Given the description of an element on the screen output the (x, y) to click on. 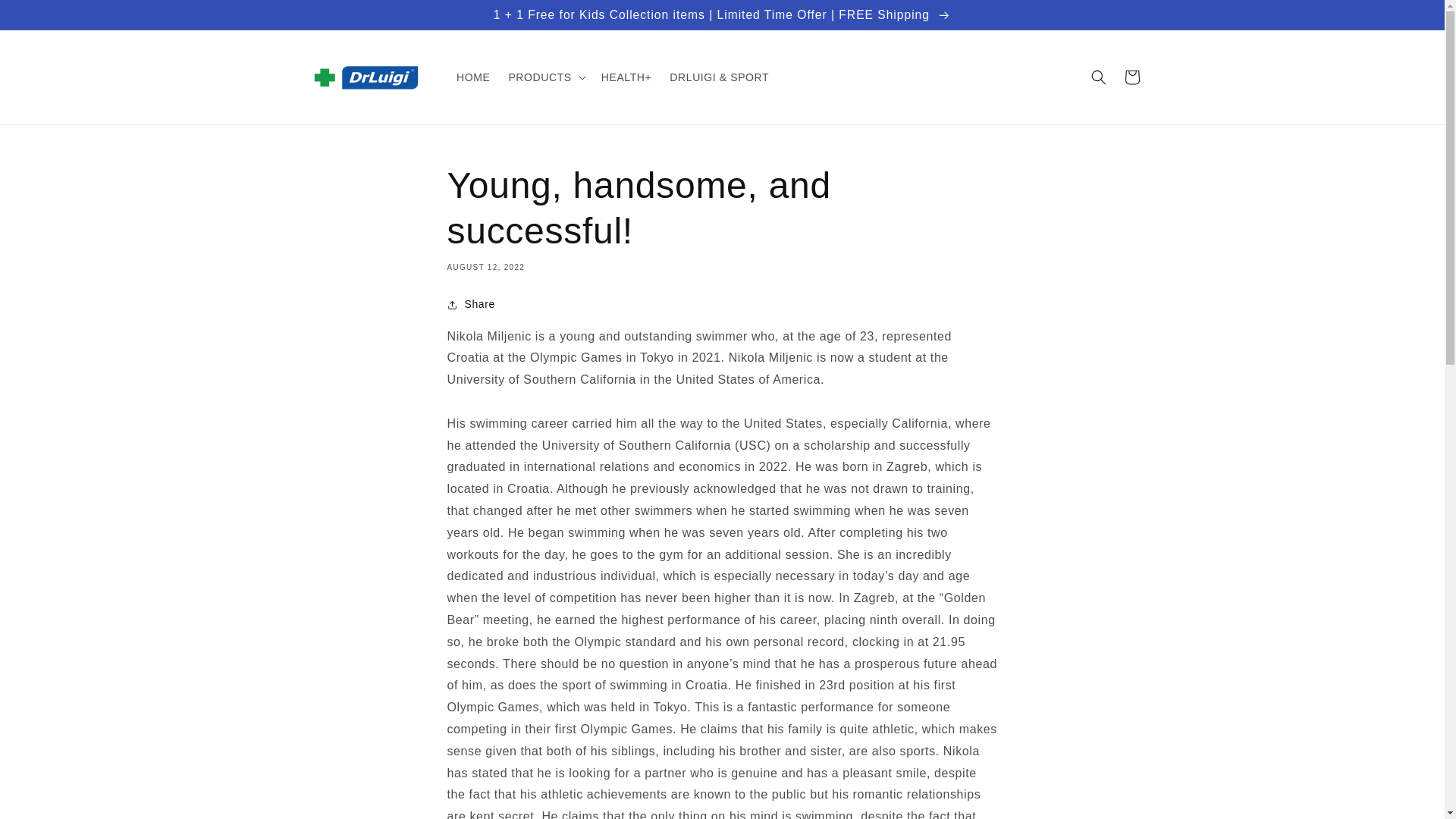
Cart (1131, 77)
Skip to content (45, 17)
HOME (472, 77)
